Given the description of an element on the screen output the (x, y) to click on. 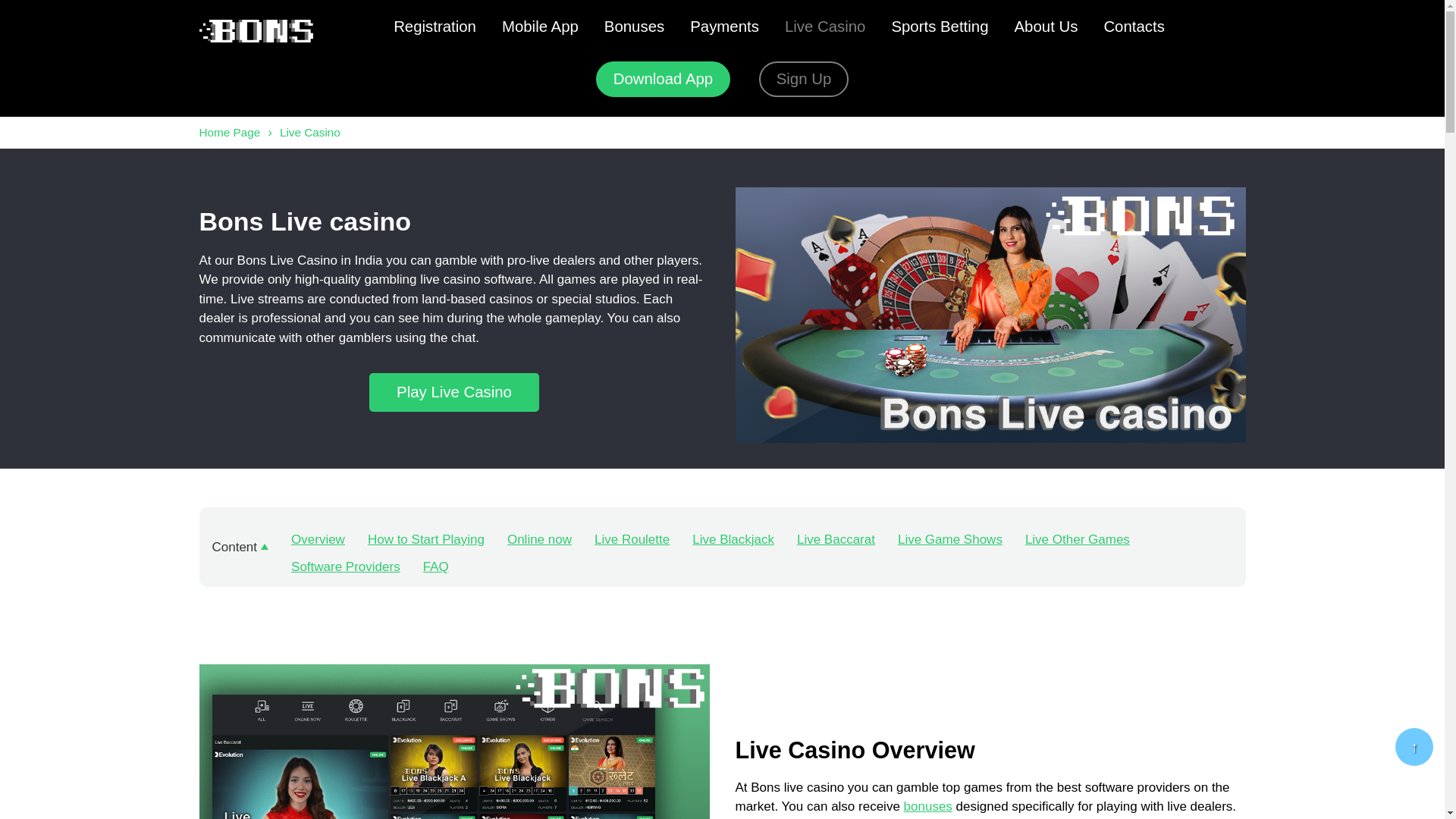
Sign Up (802, 79)
Sports Betting (939, 27)
Online now (539, 539)
Contacts (1133, 27)
FAQ (435, 566)
Download App (662, 79)
Live Blackjack (733, 539)
Live Roulette (631, 539)
Bonuses (632, 27)
Payments (724, 27)
